Given the description of an element on the screen output the (x, y) to click on. 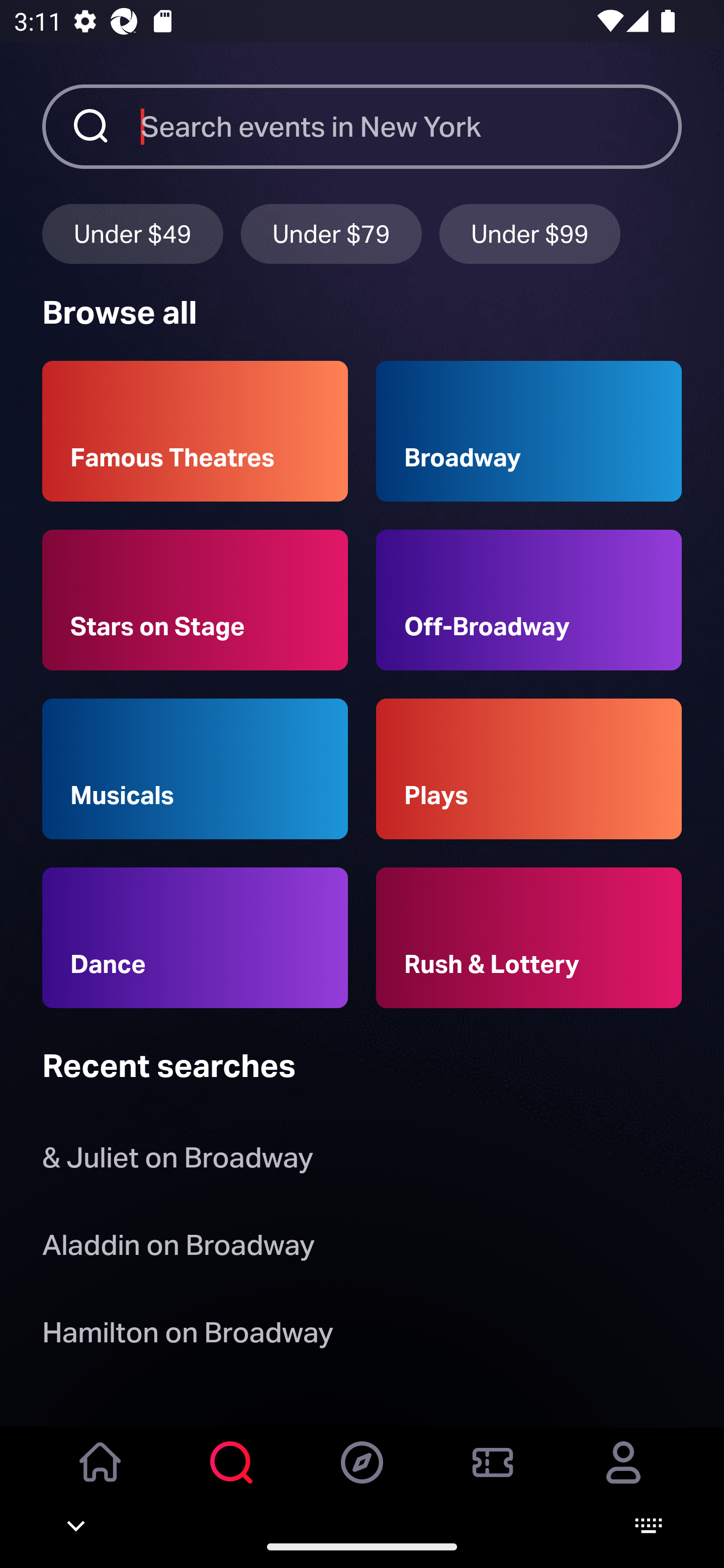
Search events in New York (411, 126)
Under $49 (131, 233)
Under $79 (331, 233)
Under $99 (529, 233)
Famous Theatres (194, 430)
Broadway (528, 430)
Stars on Stage (194, 600)
Off-Broadway (528, 600)
Musicals (194, 768)
Plays (528, 768)
Dance (194, 937)
Rush & Lottery (528, 937)
& Juliet on Broadway  (180, 1161)
Aladdin on Broadway (177, 1248)
Hamilton on Broadway (187, 1335)
Home (100, 1475)
Discover (361, 1475)
Orders (492, 1475)
Account (623, 1475)
